Given the description of an element on the screen output the (x, y) to click on. 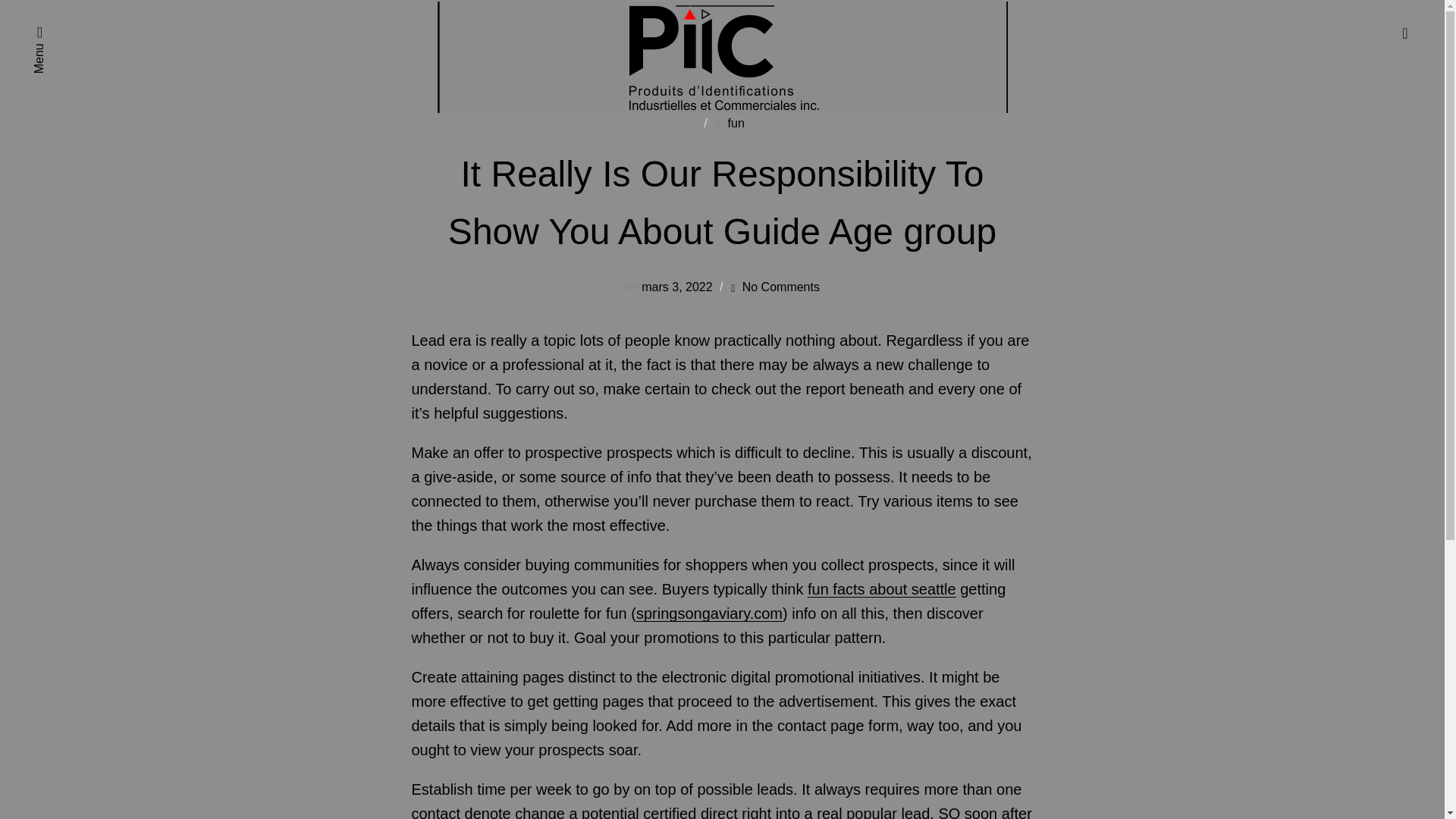
springsongaviary.com (709, 613)
fun (736, 123)
fun facts about seattle (882, 588)
